Given the description of an element on the screen output the (x, y) to click on. 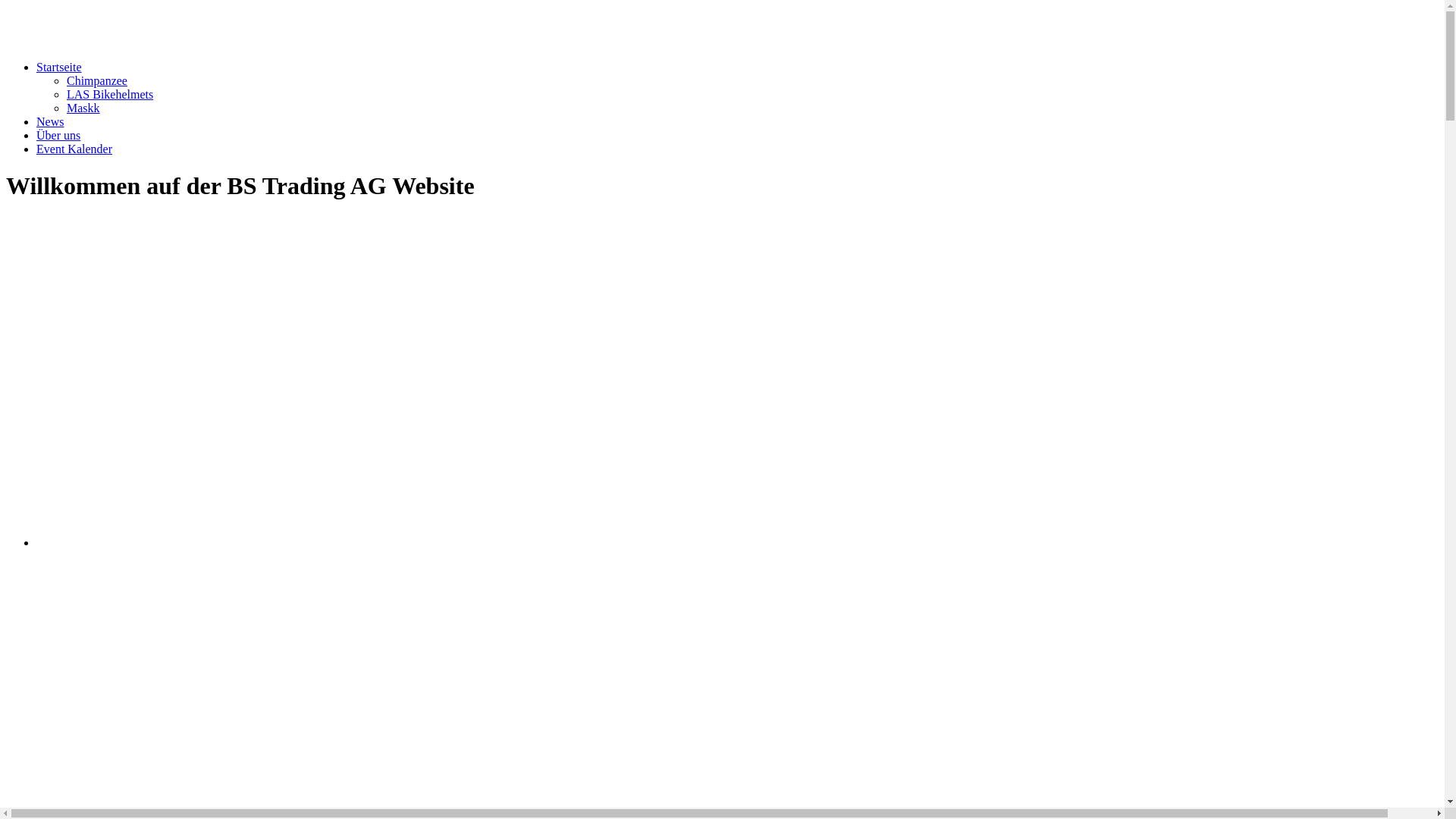
Startseite Element type: text (58, 66)
News Element type: text (49, 121)
Event Kalender Element type: text (74, 148)
Chimpanzee Element type: text (96, 80)
LAS Bikehelmets Element type: text (109, 93)
Maskk Element type: text (83, 107)
